Given the description of an element on the screen output the (x, y) to click on. 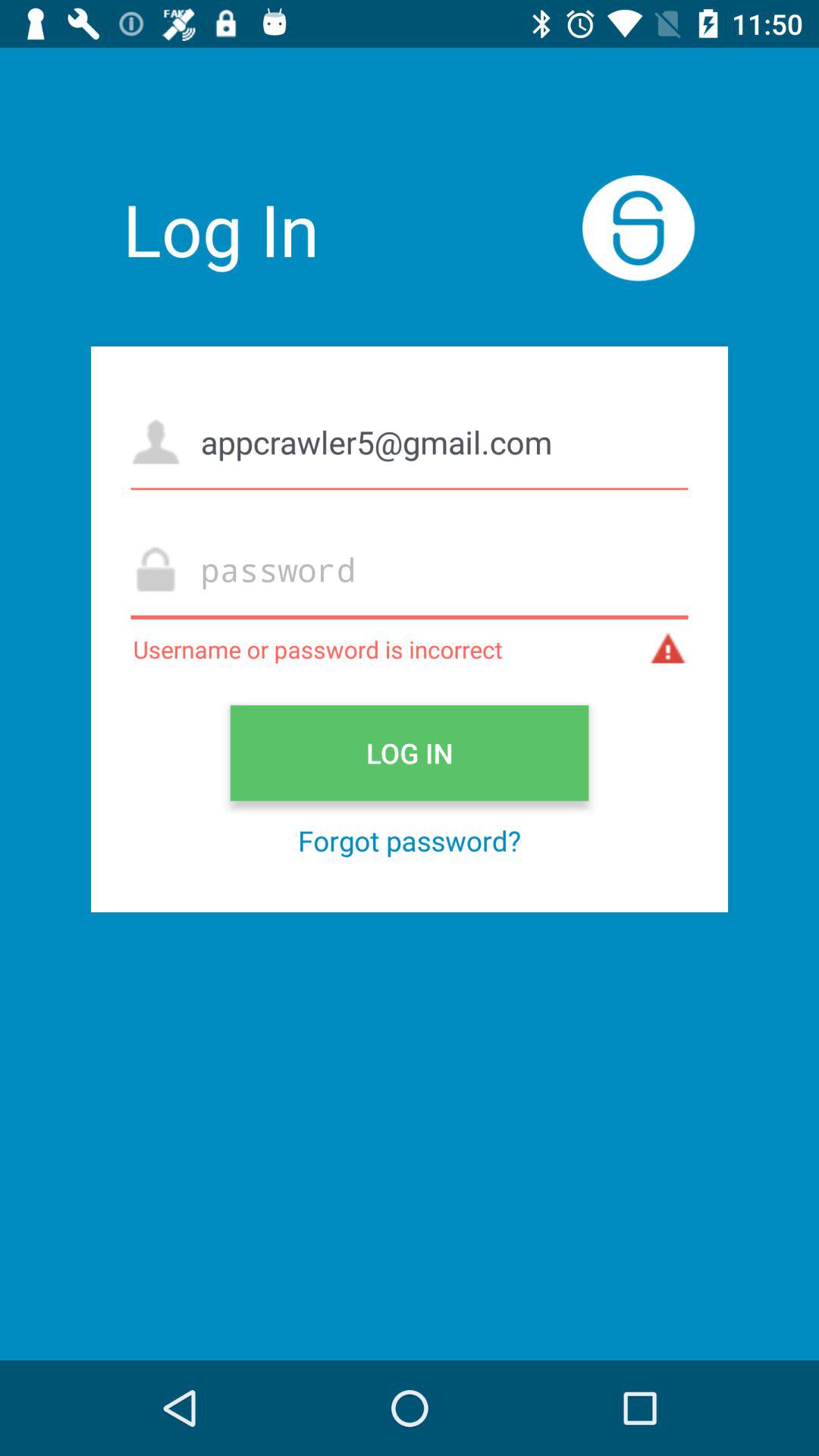
flip until forgot password? icon (409, 840)
